Given the description of an element on the screen output the (x, y) to click on. 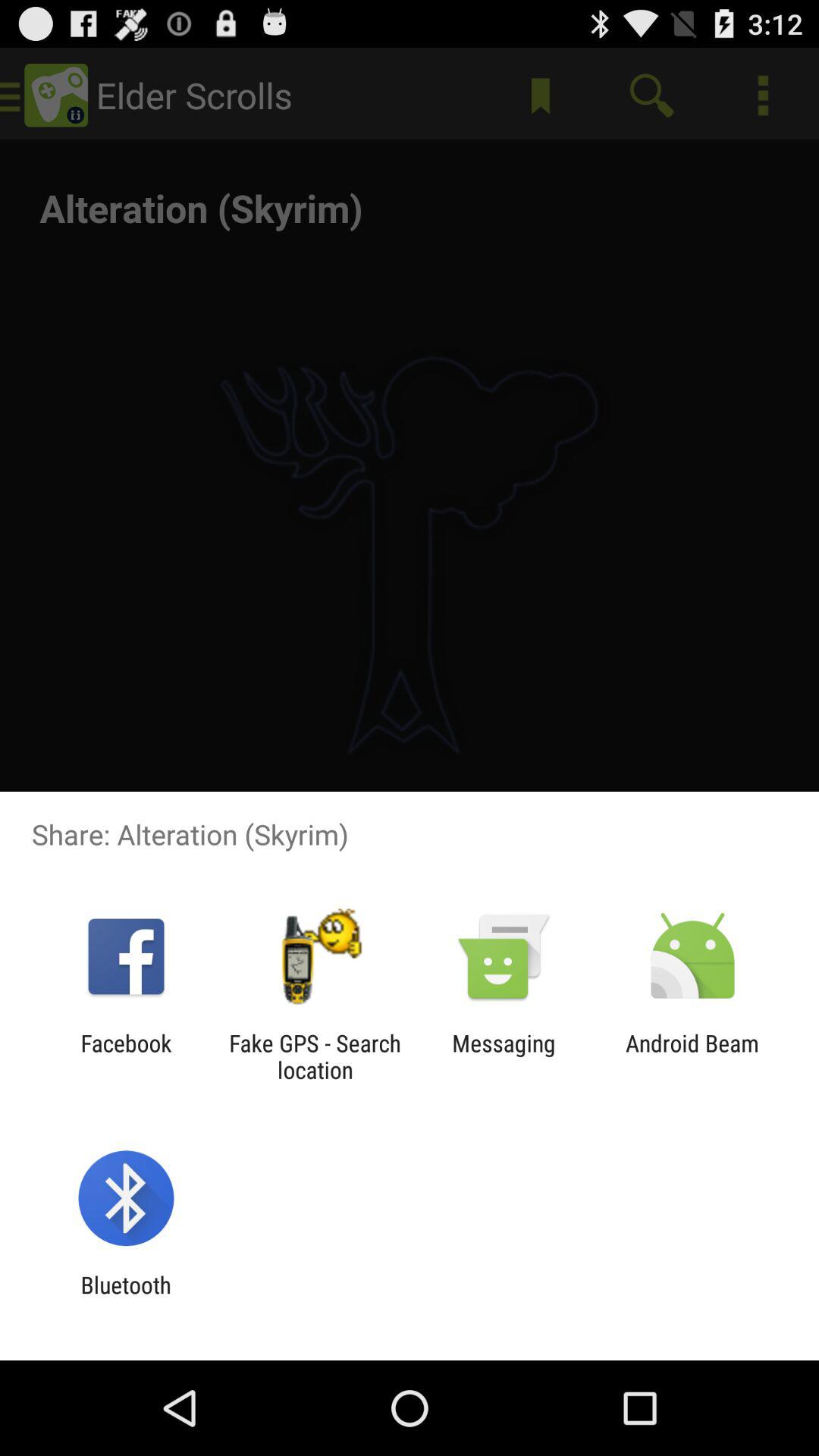
tap the app to the left of fake gps search app (125, 1056)
